Given the description of an element on the screen output the (x, y) to click on. 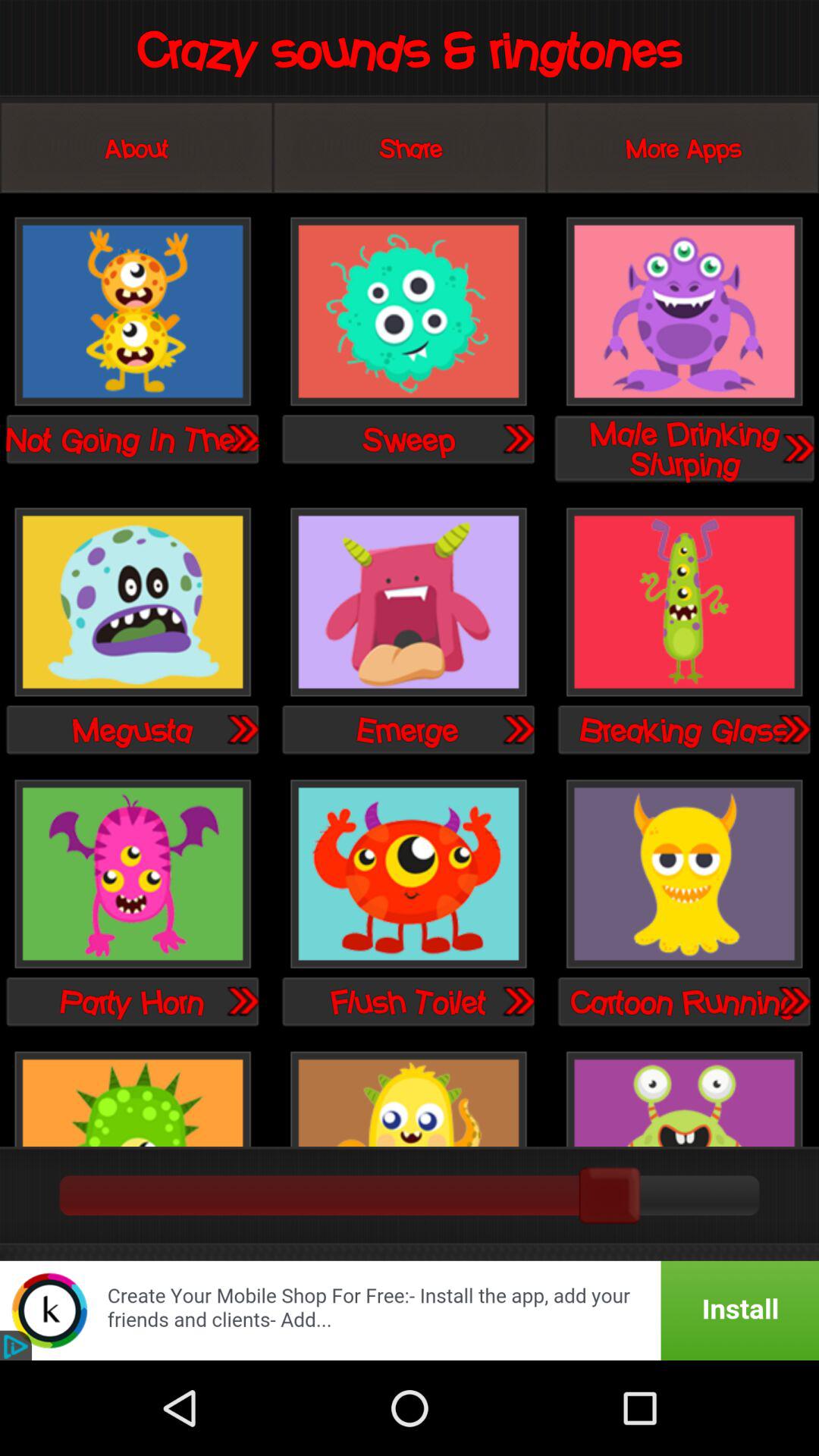
preview the sound (793, 728)
